Given the description of an element on the screen output the (x, y) to click on. 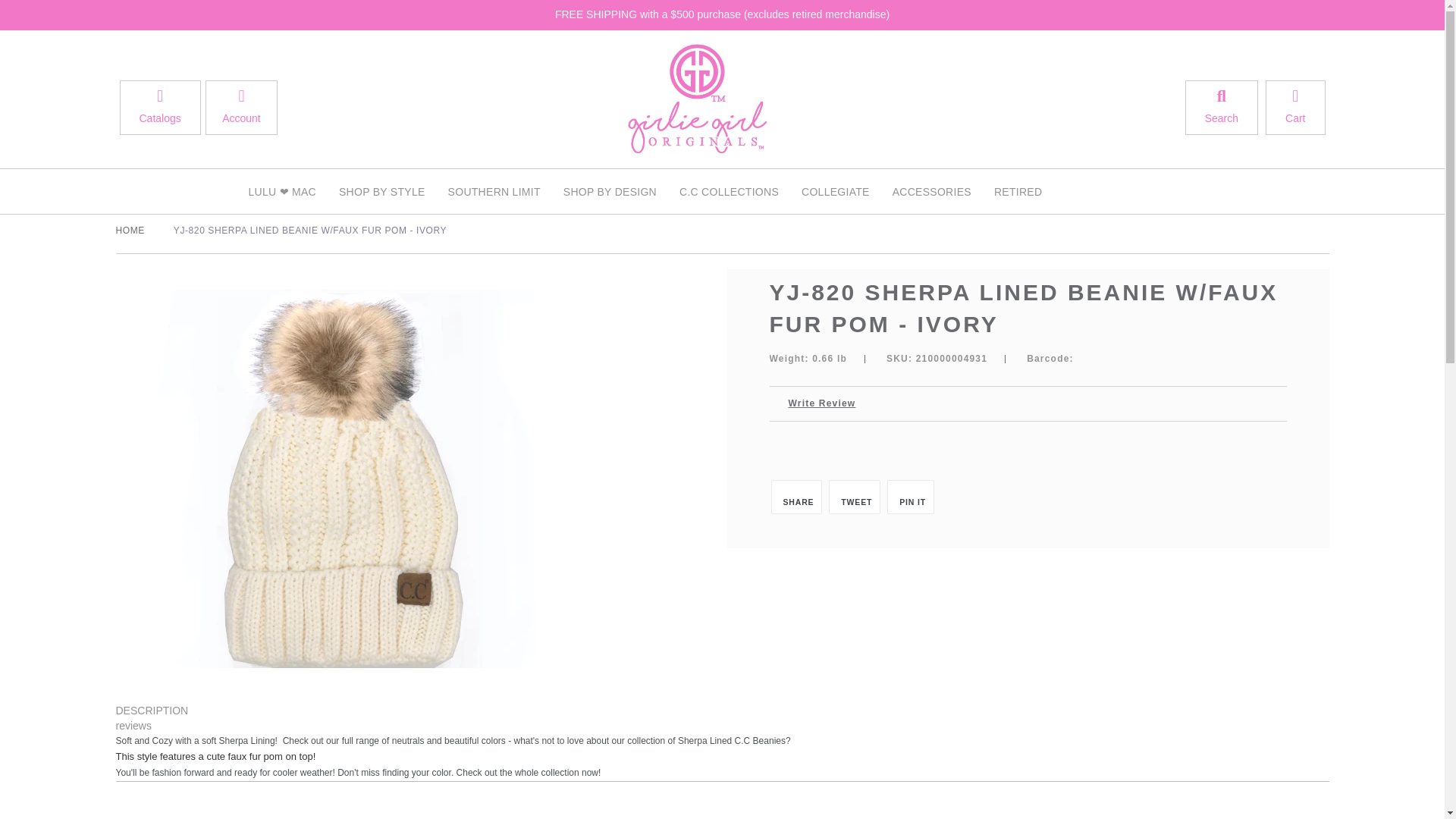
Share on Facebook (796, 497)
ACCESSORIES (931, 191)
Pin on Pinterest (910, 497)
Search (1221, 107)
SOUTHERN LIMIT (493, 191)
Tweet on Twitter (854, 497)
SHOP BY DESIGN (609, 191)
SHOP BY STYLE (381, 191)
COLLEGIATE (835, 191)
Catalogs (159, 107)
SHOP BY DESIGN (609, 191)
Cart (1294, 107)
